Given the description of an element on the screen output the (x, y) to click on. 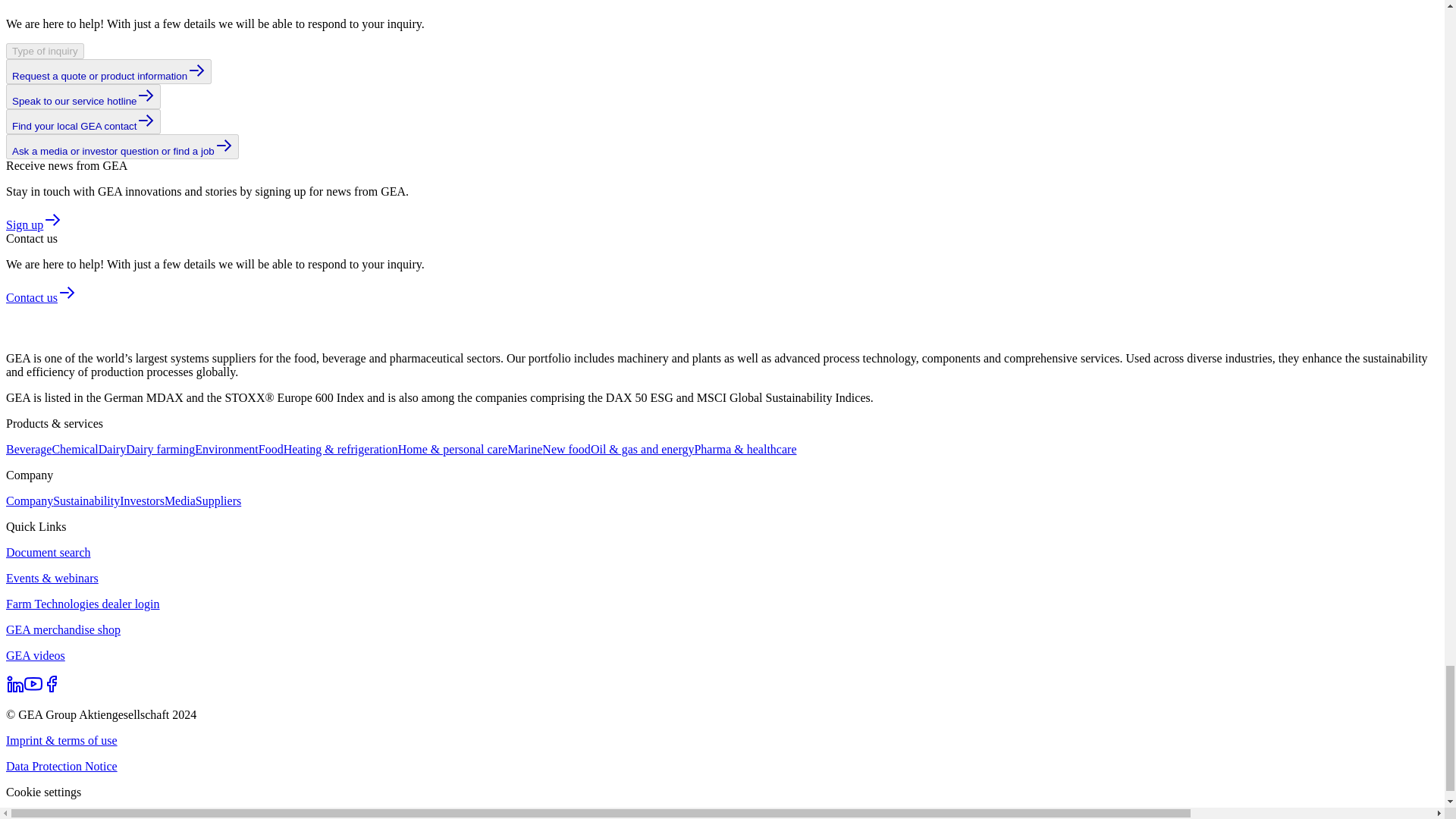
Media (179, 500)
Suppliers (218, 500)
Sustainability (85, 500)
Company (28, 500)
Investors (141, 500)
